Given the description of an element on the screen output the (x, y) to click on. 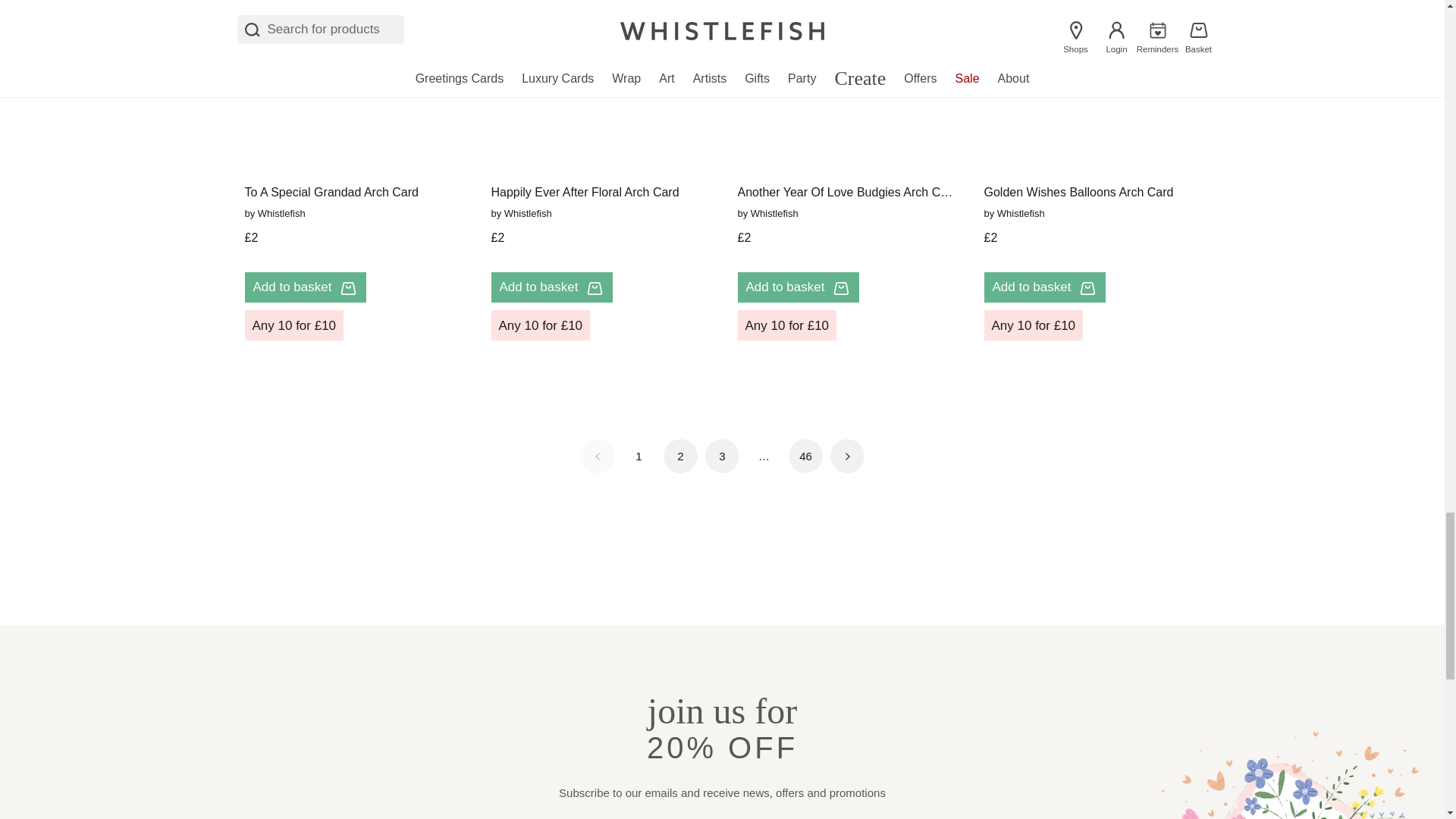
Previous page (596, 455)
Navigate to page 46 (805, 455)
Navigate to page 2 (680, 455)
Navigate to page 3 (721, 455)
Next page (846, 455)
